Given the description of an element on the screen output the (x, y) to click on. 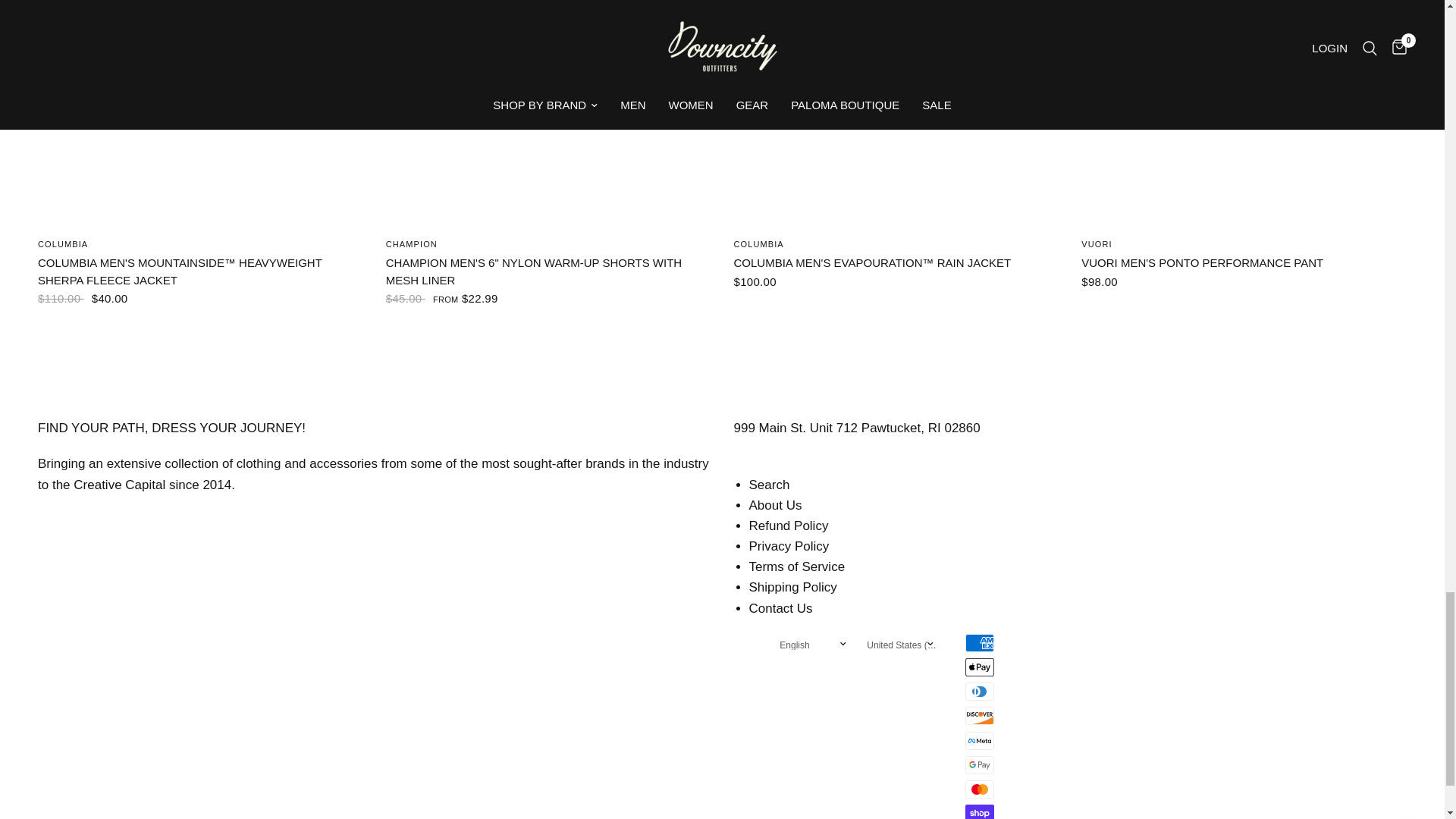
Mastercard (979, 789)
Diners Club (979, 691)
Apple Pay (979, 667)
Shop Pay (979, 811)
American Express (979, 642)
Meta Pay (979, 741)
Discover (979, 715)
Google Pay (979, 764)
